Given the description of an element on the screen output the (x, y) to click on. 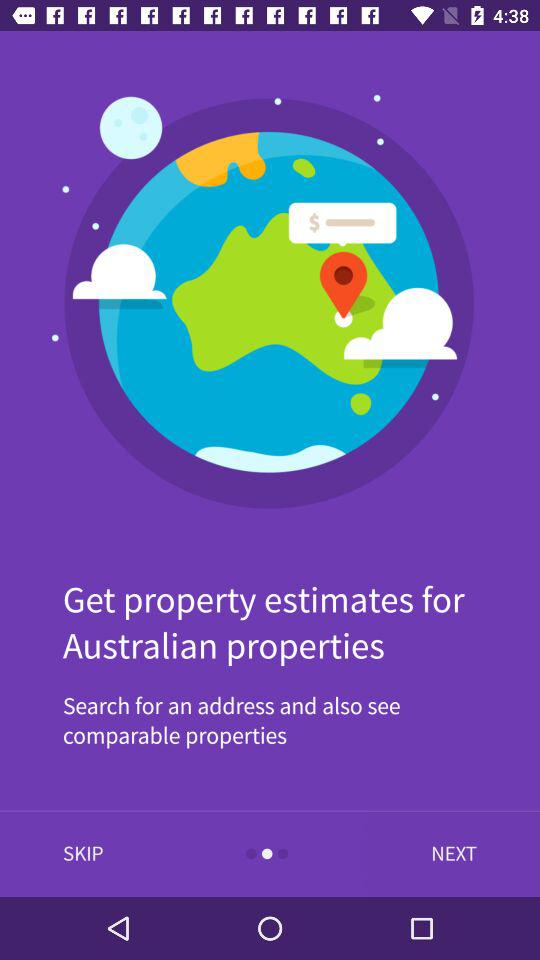
scroll until the next (449, 853)
